Given the description of an element on the screen output the (x, y) to click on. 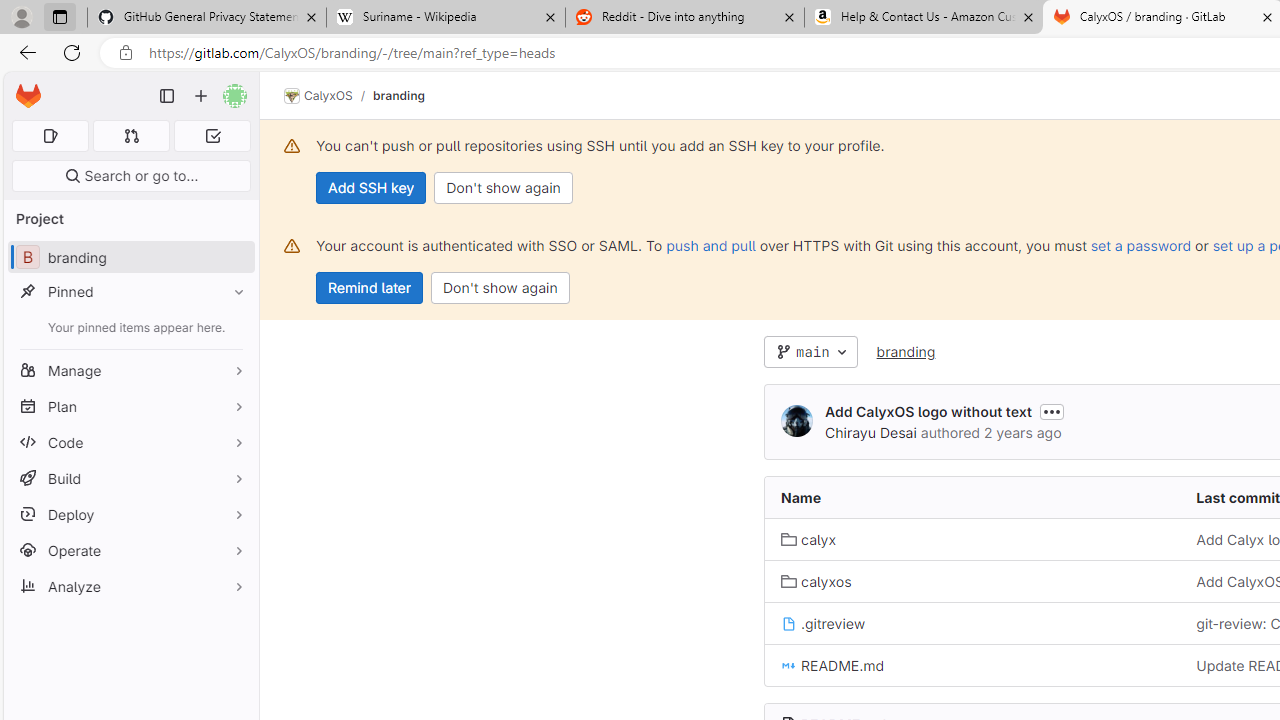
CalyxOS/ (328, 96)
Plan (130, 406)
Don't show again (500, 287)
Name (973, 497)
Bbranding (130, 257)
README.md (973, 664)
Operate (130, 550)
To-Do list 0 (212, 136)
B branding (130, 257)
Chirayu Desai's avatar (796, 420)
branding (905, 351)
Pinned (130, 291)
Chirayu Desai's avatar (796, 421)
Suriname - Wikipedia (445, 17)
